Given the description of an element on the screen output the (x, y) to click on. 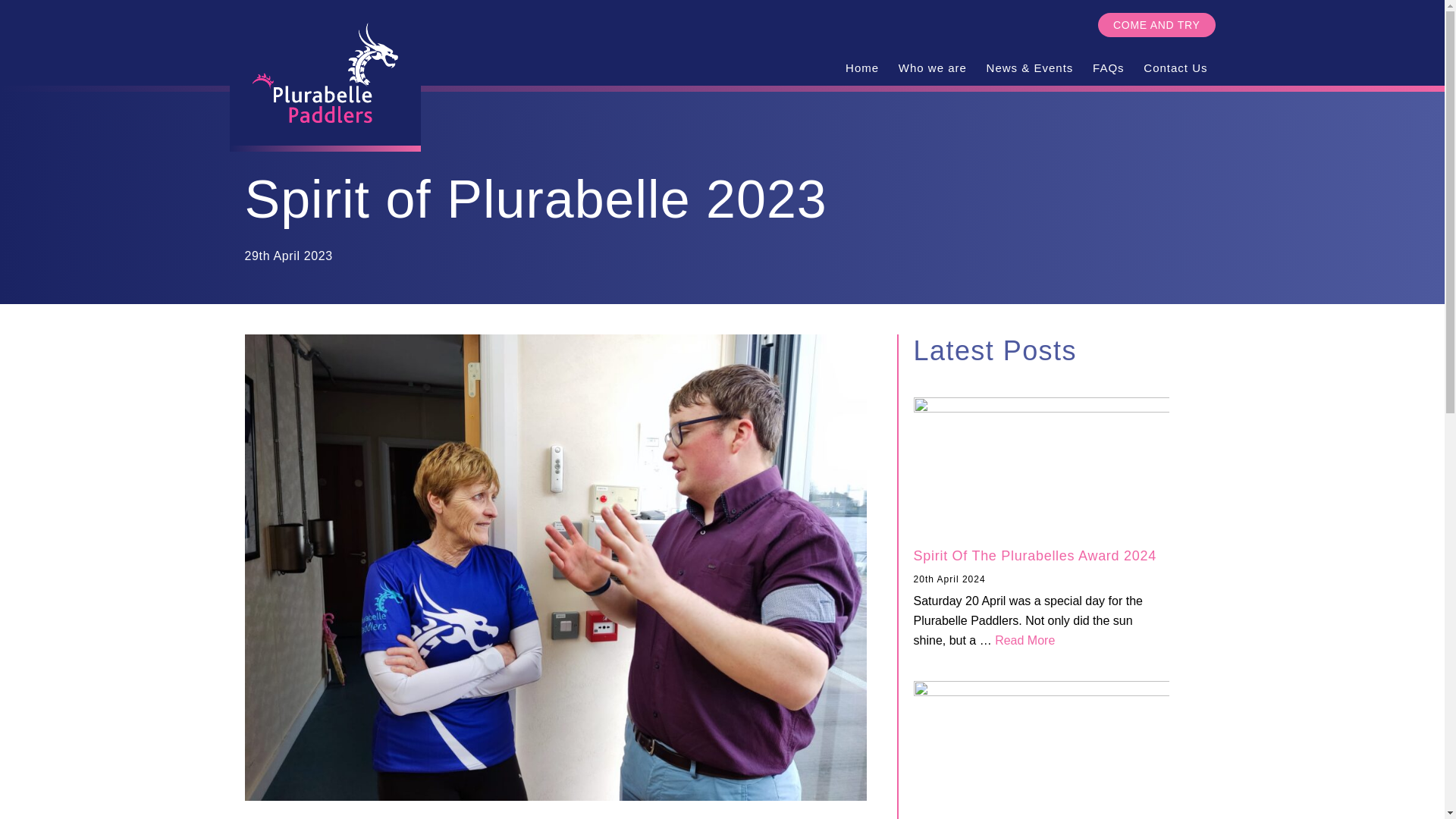
Contact Us (1174, 66)
Plurabelle Paddlers (324, 75)
COME AND TRY (1155, 24)
Who we are (932, 66)
Home (862, 66)
Spirit Of The Plurabelles Award 2024 (1035, 555)
FAQs (1024, 640)
Skip to primary navigation (1108, 66)
